Given the description of an element on the screen output the (x, y) to click on. 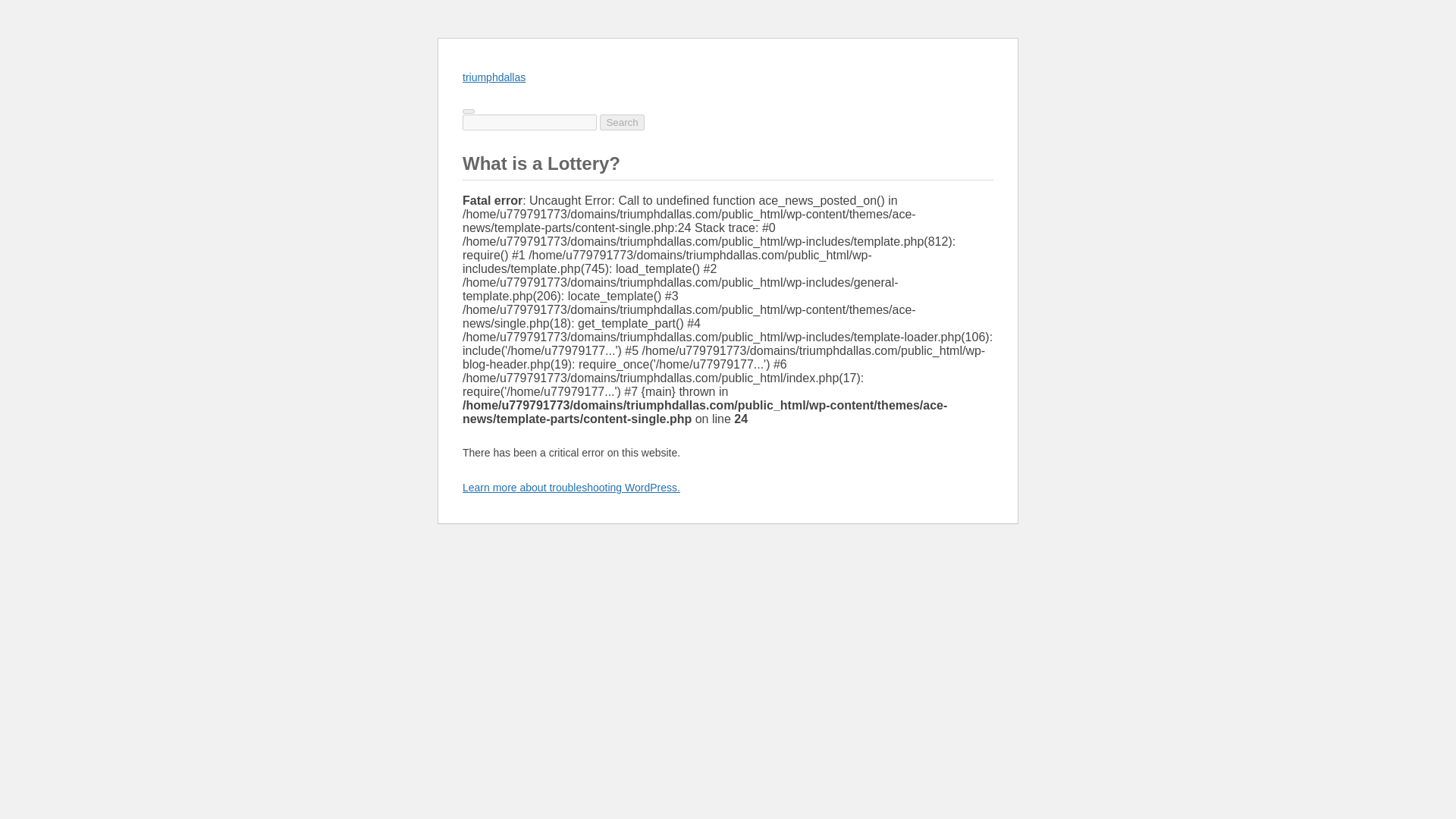
triumphdallas (494, 77)
